Given the description of an element on the screen output the (x, y) to click on. 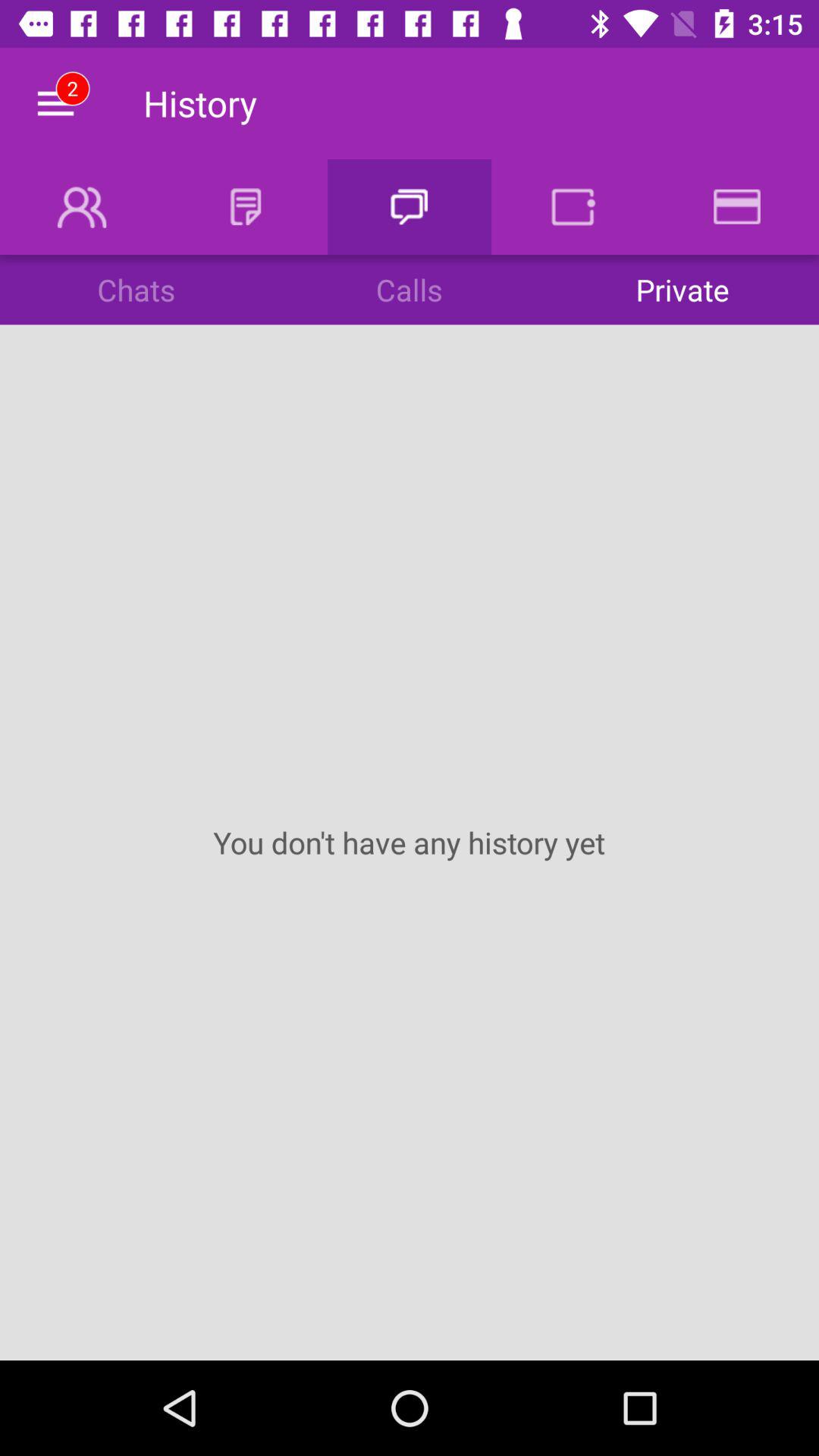
choose item next to history item (55, 103)
